Given the description of an element on the screen output the (x, y) to click on. 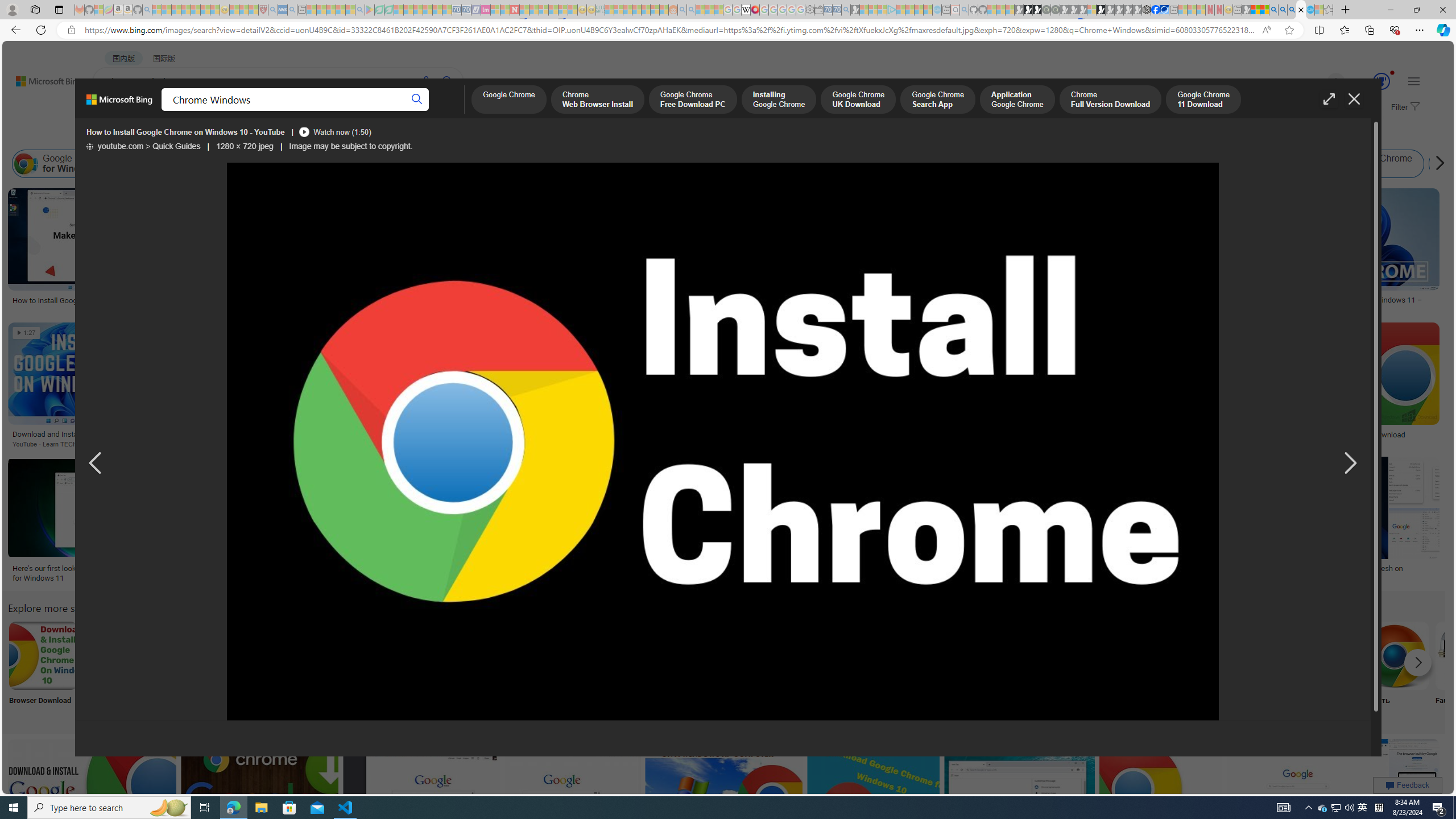
Read aloud this page (Ctrl+Shift+U) (1266, 29)
Target page - Wikipedia (745, 9)
Layout (252, 135)
License (377, 135)
Chrome Color PNG Color PNG (644, 669)
Google Chrome Search App (937, 100)
Chrome Internet Browser Download (1093, 654)
OS Laptops (877, 261)
Search (416, 99)
Scroll more suggestions right (1418, 662)
Address and search bar (669, 29)
3:29 (1073, 466)
Chrome Internet Browser Download Internet-Browser Download (1093, 669)
